Given the description of an element on the screen output the (x, y) to click on. 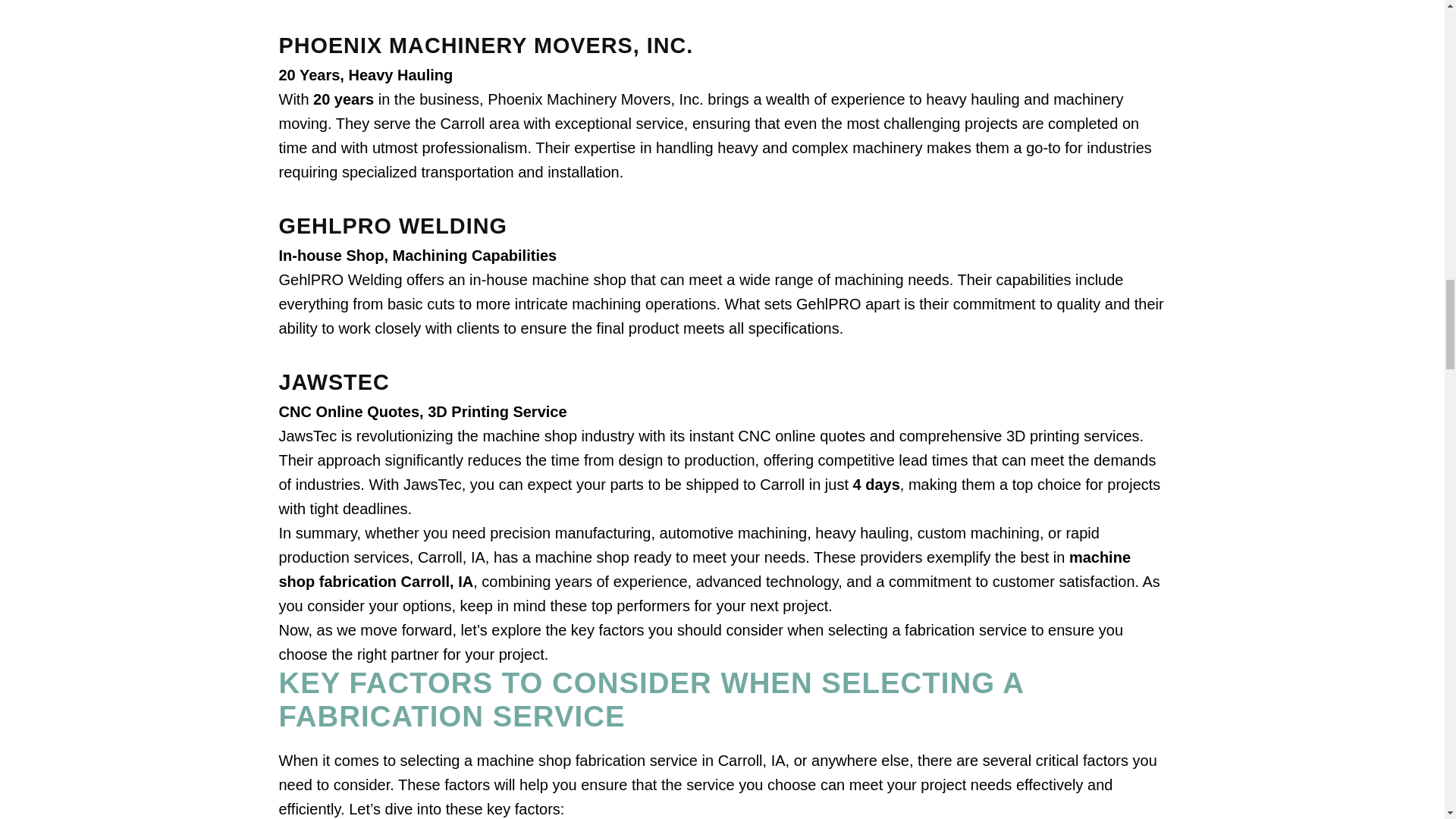
FABRICATION (381, 716)
JawsTec (432, 484)
